Given the description of an element on the screen output the (x, y) to click on. 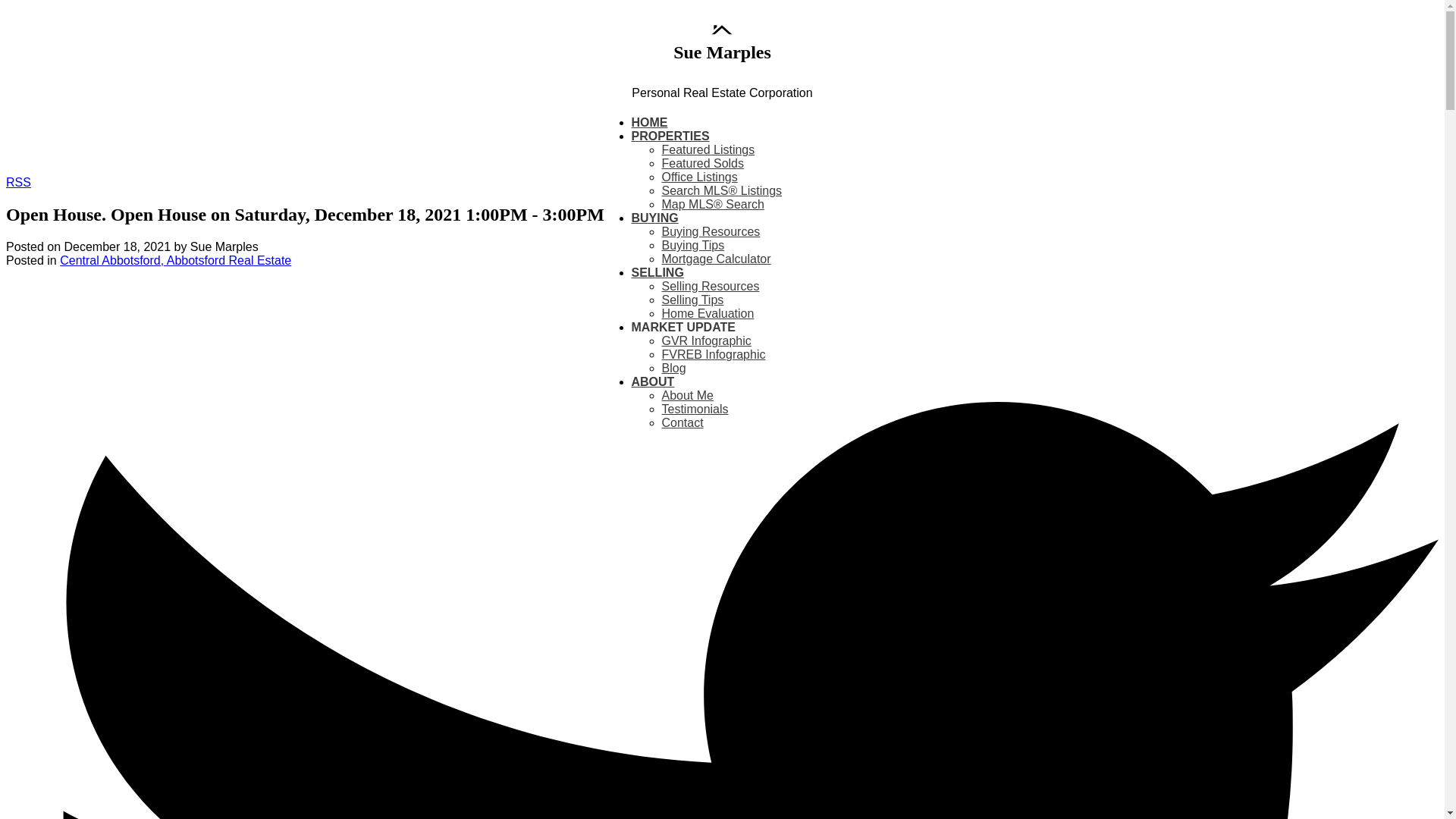
RSS (17, 182)
FVREB Infographic (713, 354)
Blog (673, 367)
Selling Tips (692, 299)
Buying Tips (692, 245)
BUYING (654, 218)
PROPERTIES (669, 136)
Selling Resources (709, 286)
Buying Resources (710, 231)
GVR Infographic (706, 340)
ABOUT (652, 382)
Central Abbotsford, Abbotsford Real Estate (175, 259)
Home Evaluation (707, 313)
Office Listings (698, 176)
Mortgage Calculator (715, 258)
